Given the description of an element on the screen output the (x, y) to click on. 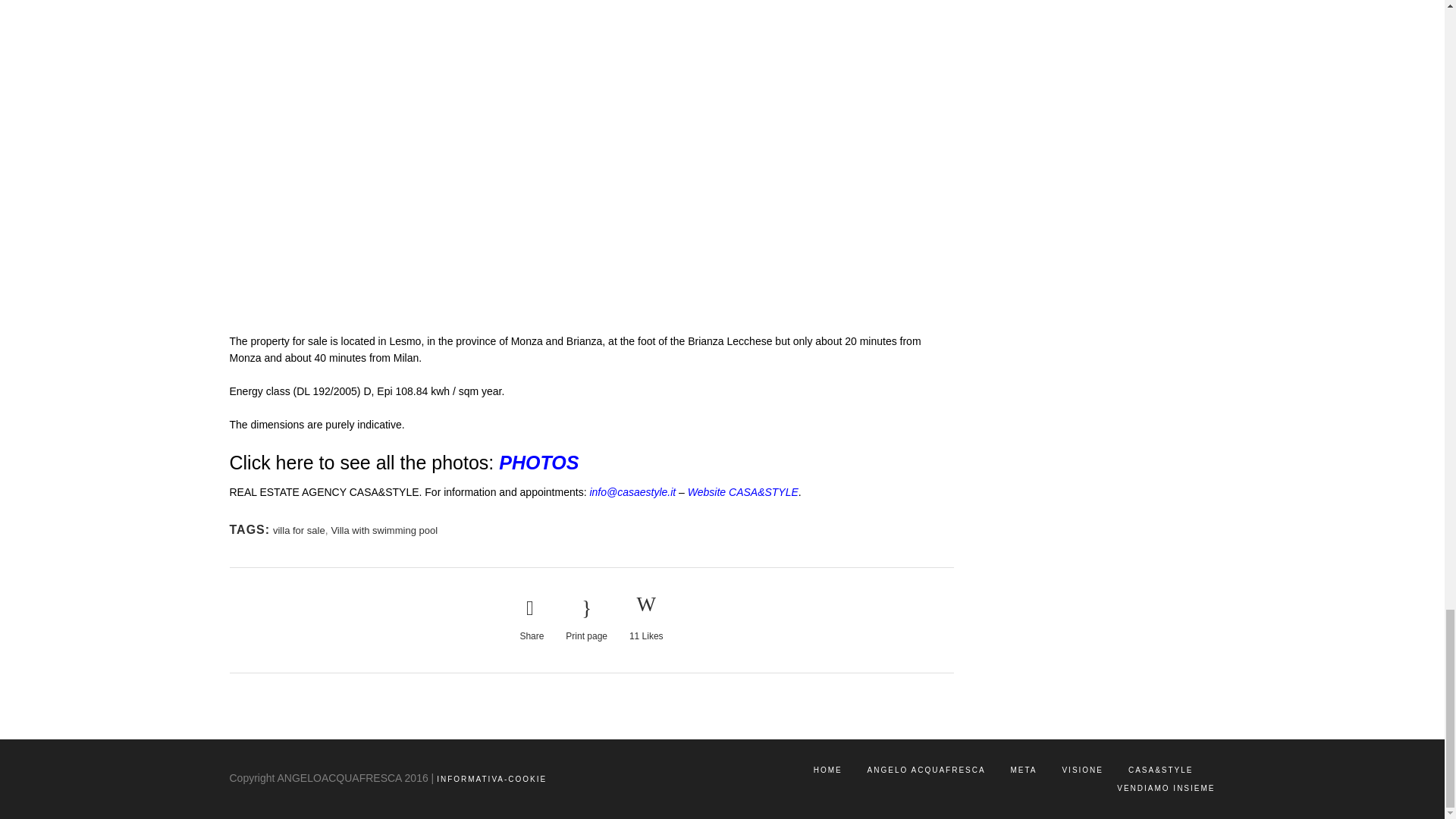
villa for sale (298, 530)
PHOTOS (538, 462)
Villa with swimming pool (384, 530)
Print page (586, 619)
